Given the description of an element on the screen output the (x, y) to click on. 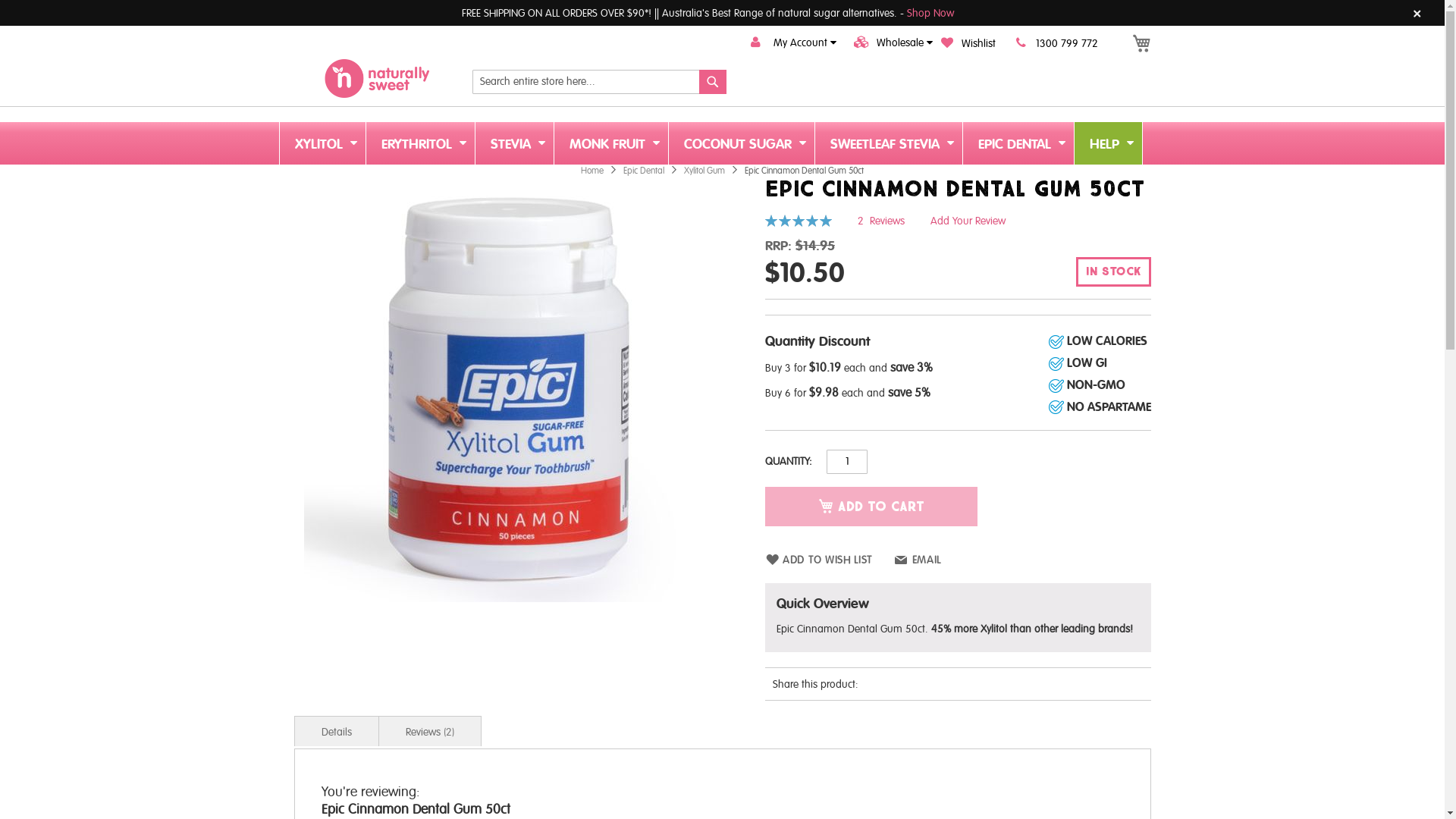
STEVIA Element type: text (513, 143)
Wishlist Element type: text (966, 43)
Search Element type: text (712, 81)
Wholesale Element type: text (885, 42)
Naturally Sweeteners Element type: hover (377, 78)
My Cart Element type: text (1140, 43)
COCONUT SUGAR Element type: text (741, 143)
MONK FRUIT Element type: text (610, 143)
Naturally Sweeteners Element type: hover (377, 77)
Qty Element type: hover (846, 461)
EMAIL Element type: text (917, 559)
Xylitol Gum Element type: text (705, 170)
My Account Element type: text (788, 42)
1300 799 772 Element type: text (1052, 43)
ADD TO WISH LIST Element type: text (818, 559)
Add Your Review Element type: text (967, 220)
EPIC DENTAL Element type: text (1018, 143)
Shop Now Element type: text (928, 12)
HELP Element type: text (1107, 143)
Add to Cart Element type: text (871, 506)
Reviews 2 Element type: text (428, 730)
2  Reviews Element type: text (882, 220)
XYLITOL Element type: text (321, 143)
Details Element type: text (336, 730)
Home Element type: text (592, 170)
Epic Dental Element type: text (644, 170)
ERYTHRITOL Element type: text (419, 143)
SWEETLEAF STEVIA Element type: text (887, 143)
